Given the description of an element on the screen output the (x, y) to click on. 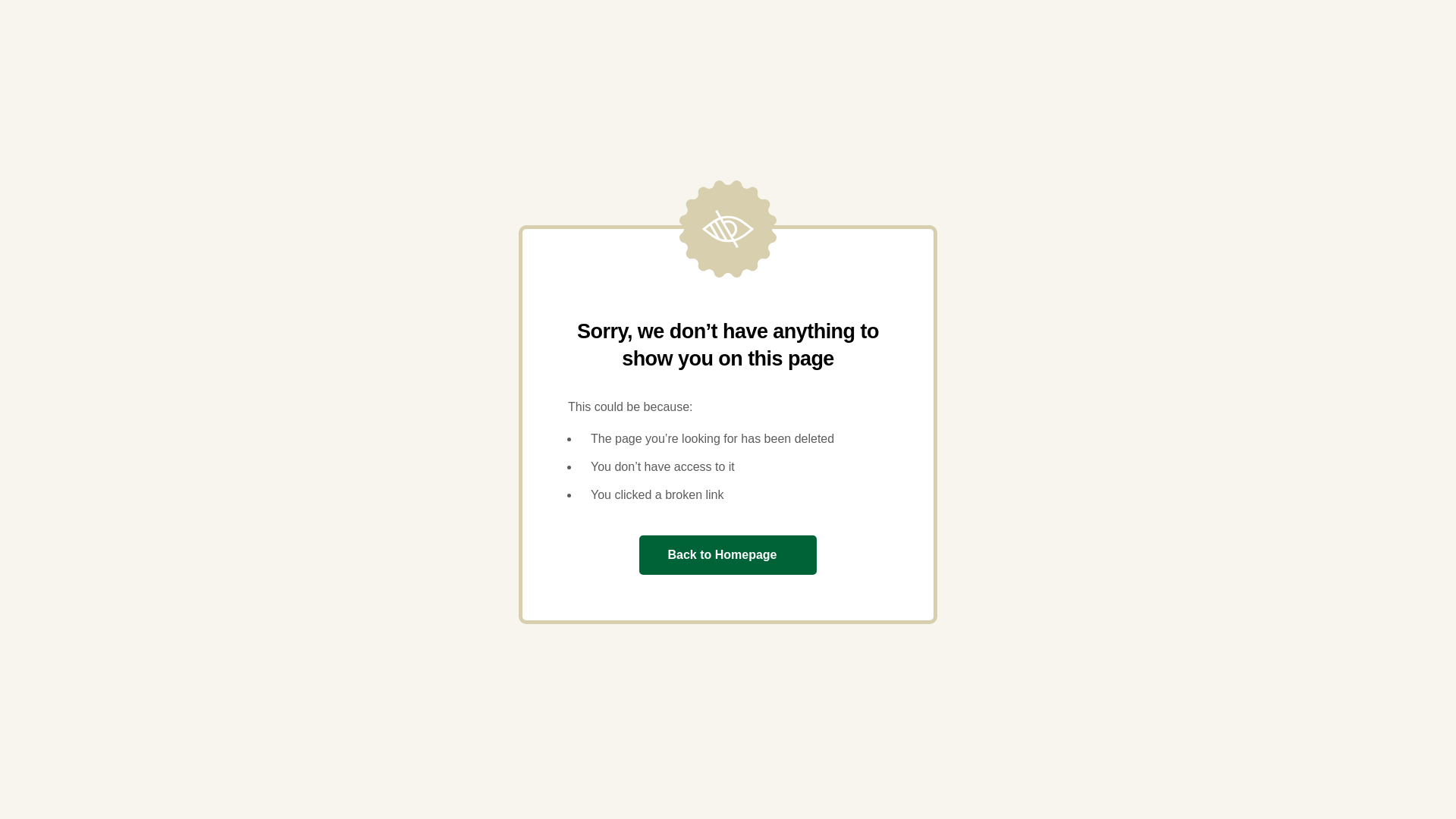
Back to Homepage (727, 554)
